Given the description of an element on the screen output the (x, y) to click on. 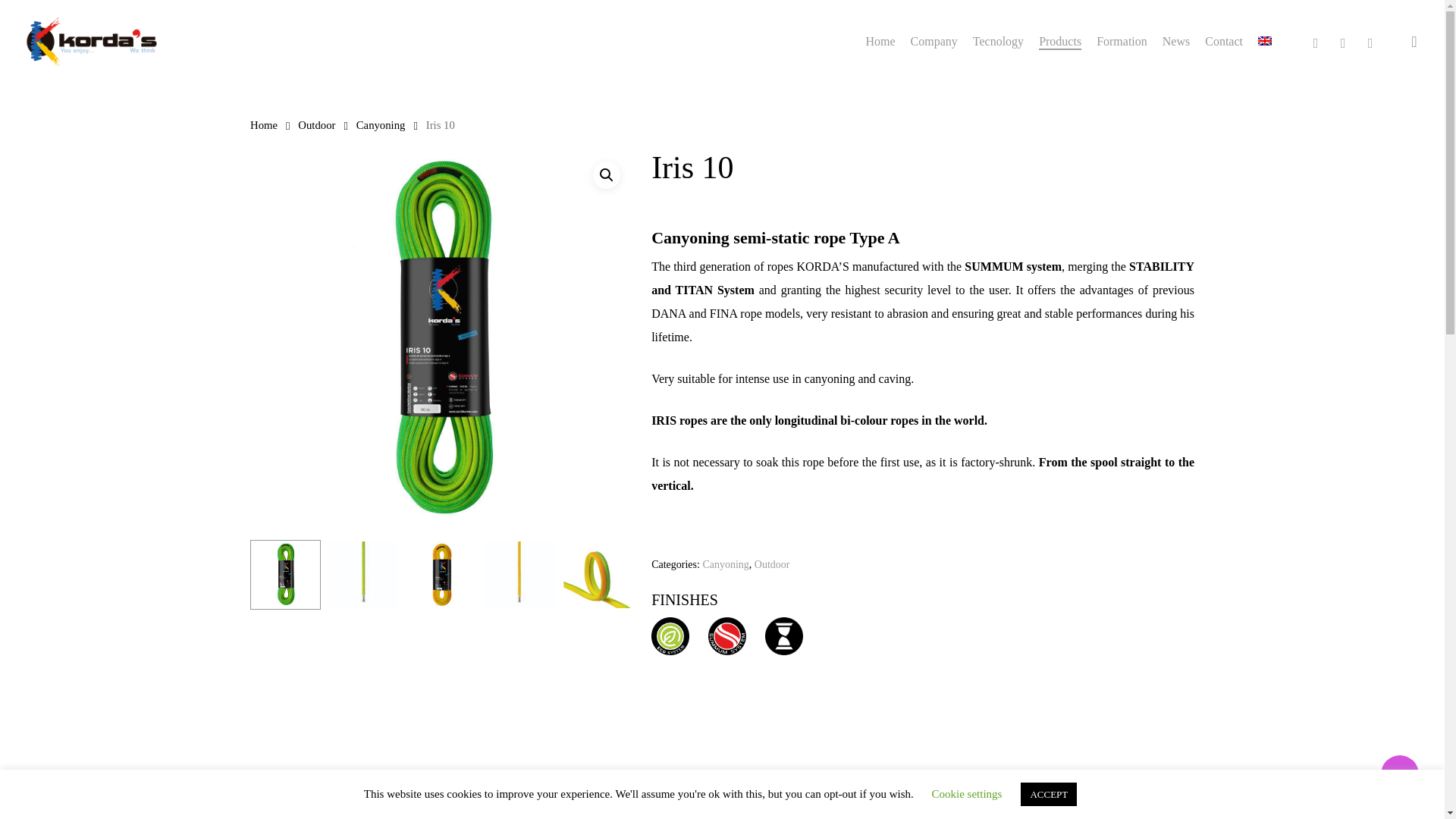
Formation (1121, 41)
instagram (1370, 40)
Home (879, 41)
Home (264, 124)
search (1414, 41)
News (1175, 41)
youtube (1342, 40)
facebook (1315, 40)
Company (934, 41)
Tecnology (997, 41)
Products (1060, 41)
Contact (1224, 41)
